Given the description of an element on the screen output the (x, y) to click on. 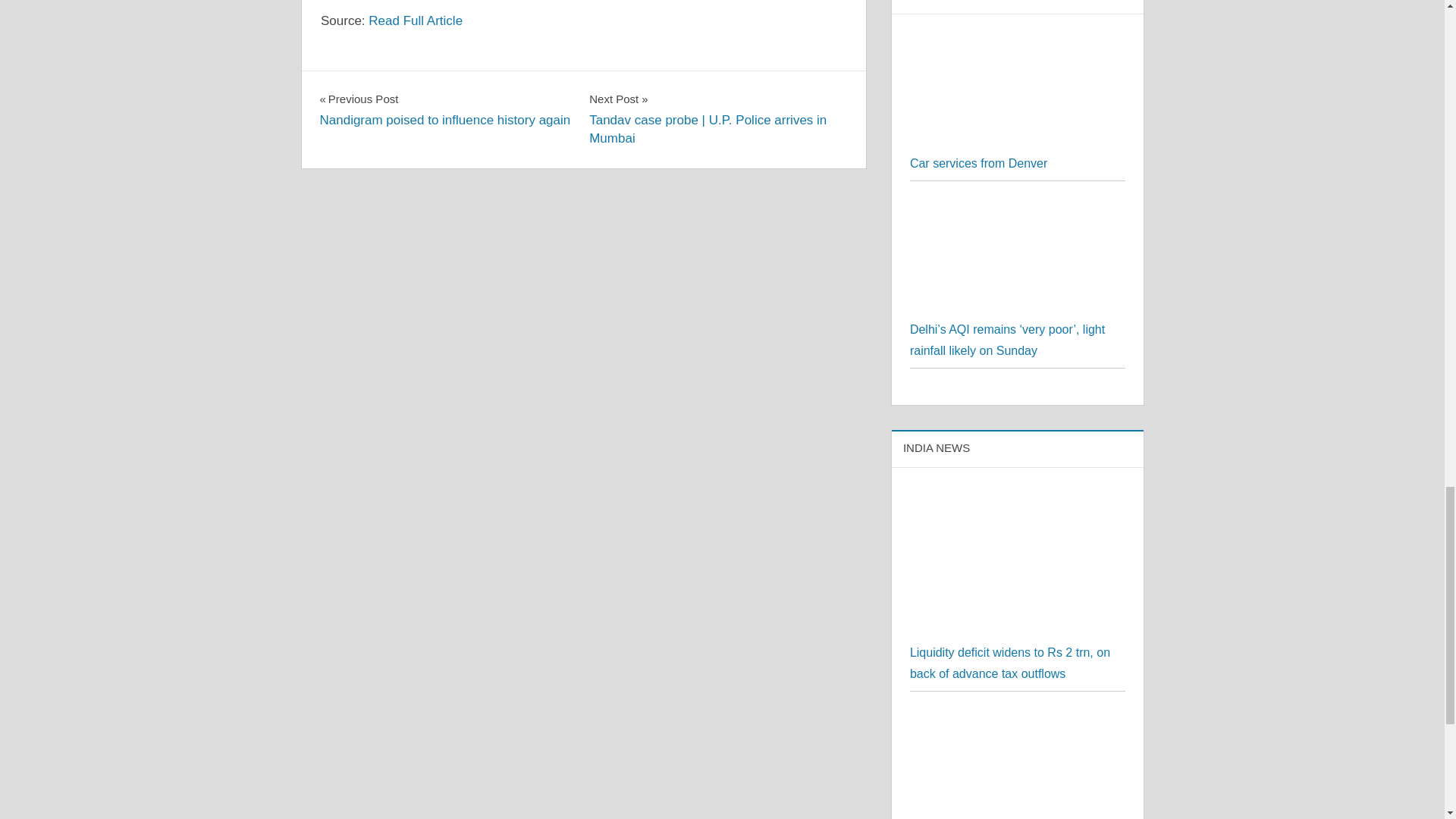
10 Healthy Things Diabetics Should Do in 2024 (1017, 46)
Read Full Article (415, 246)
INDIA (343, 311)
Car services from Denver (1017, 367)
10 Healthy Things Diabetics Should Do in 2024 (445, 335)
Car services from Denver (1015, 113)
